Given the description of an element on the screen output the (x, y) to click on. 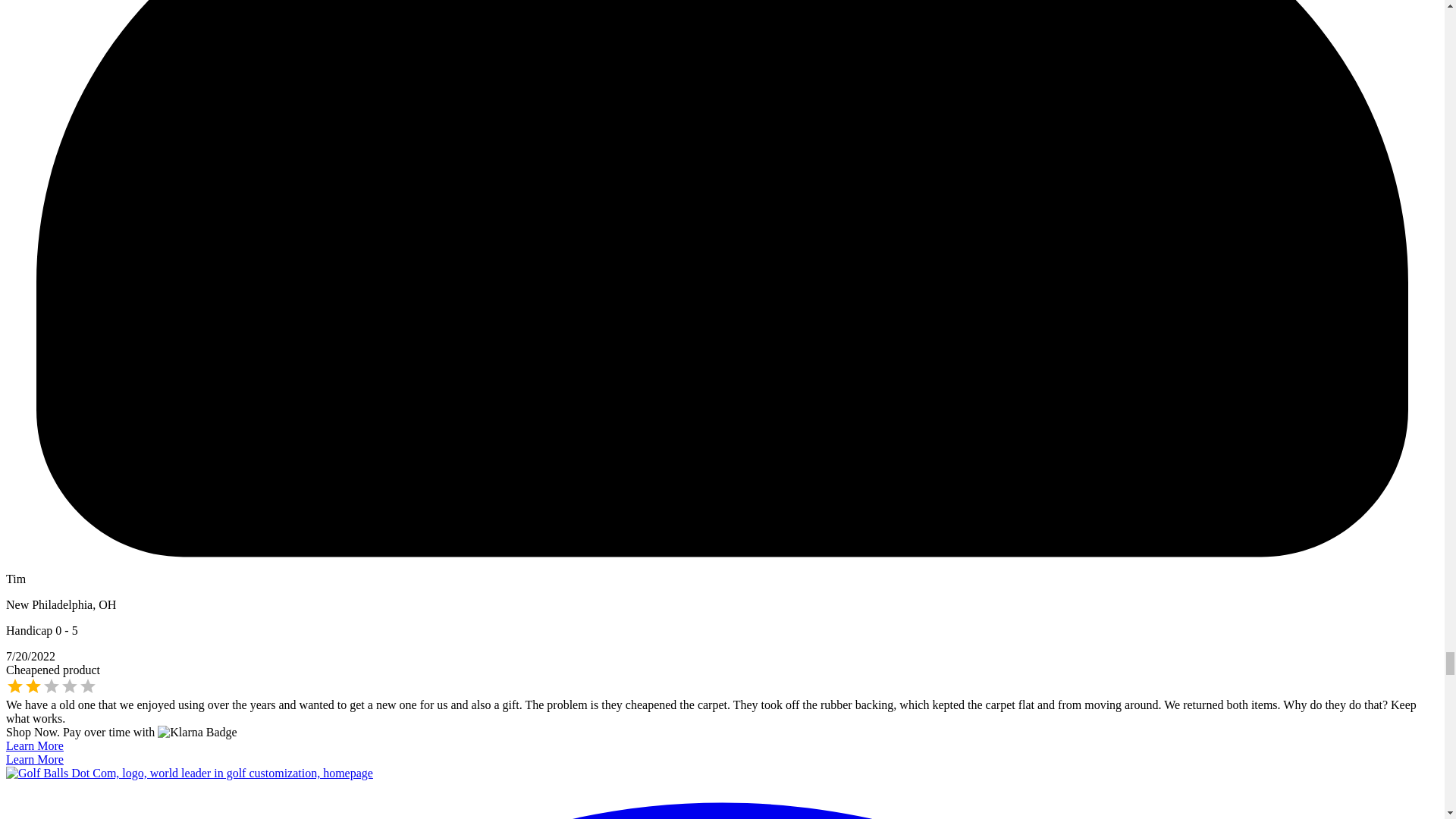
Learn More (34, 745)
Learn More (34, 758)
